Given the description of an element on the screen output the (x, y) to click on. 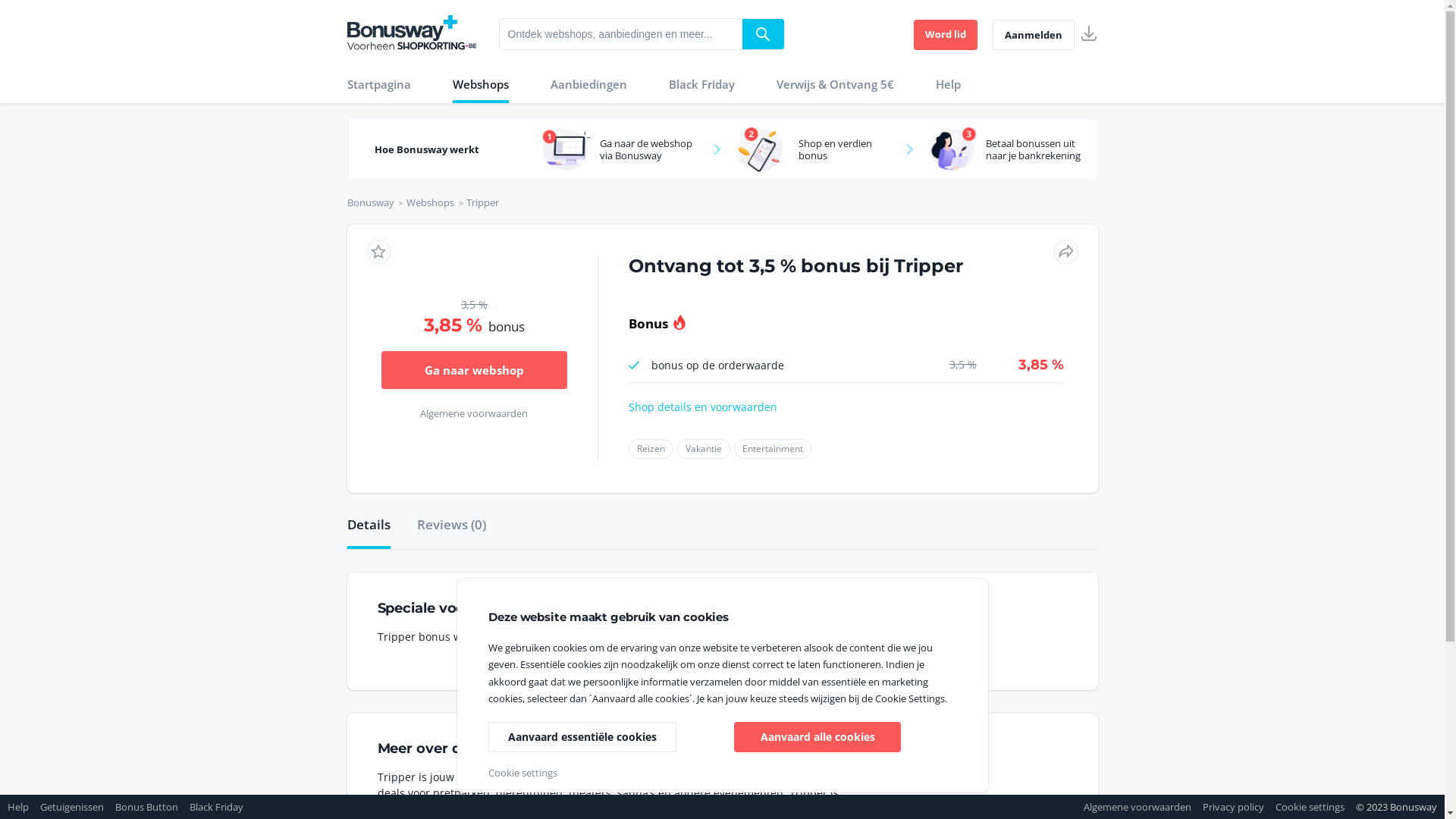
Cookie settings Element type: text (1315, 806)
Black Friday Element type: text (707, 84)
Privacy policy Element type: text (1250, 806)
Algemene voorwaarden Element type: text (1154, 806)
Aanvaard alle cookies Element type: text (817, 736)
Aanbiedingen Element type: text (593, 84)
Help Element type: text (953, 84)
Cookie settings Element type: text (522, 772)
Getuigenissen Element type: text (77, 806)
Word lid Element type: text (951, 34)
Startpagina Element type: text (384, 84)
Help Element type: text (23, 806)
Webshops Element type: text (486, 84)
Aanmelden Element type: text (1039, 34)
Bonus Button Element type: text (152, 806)
Black Friday Element type: text (221, 806)
